Given the description of an element on the screen output the (x, y) to click on. 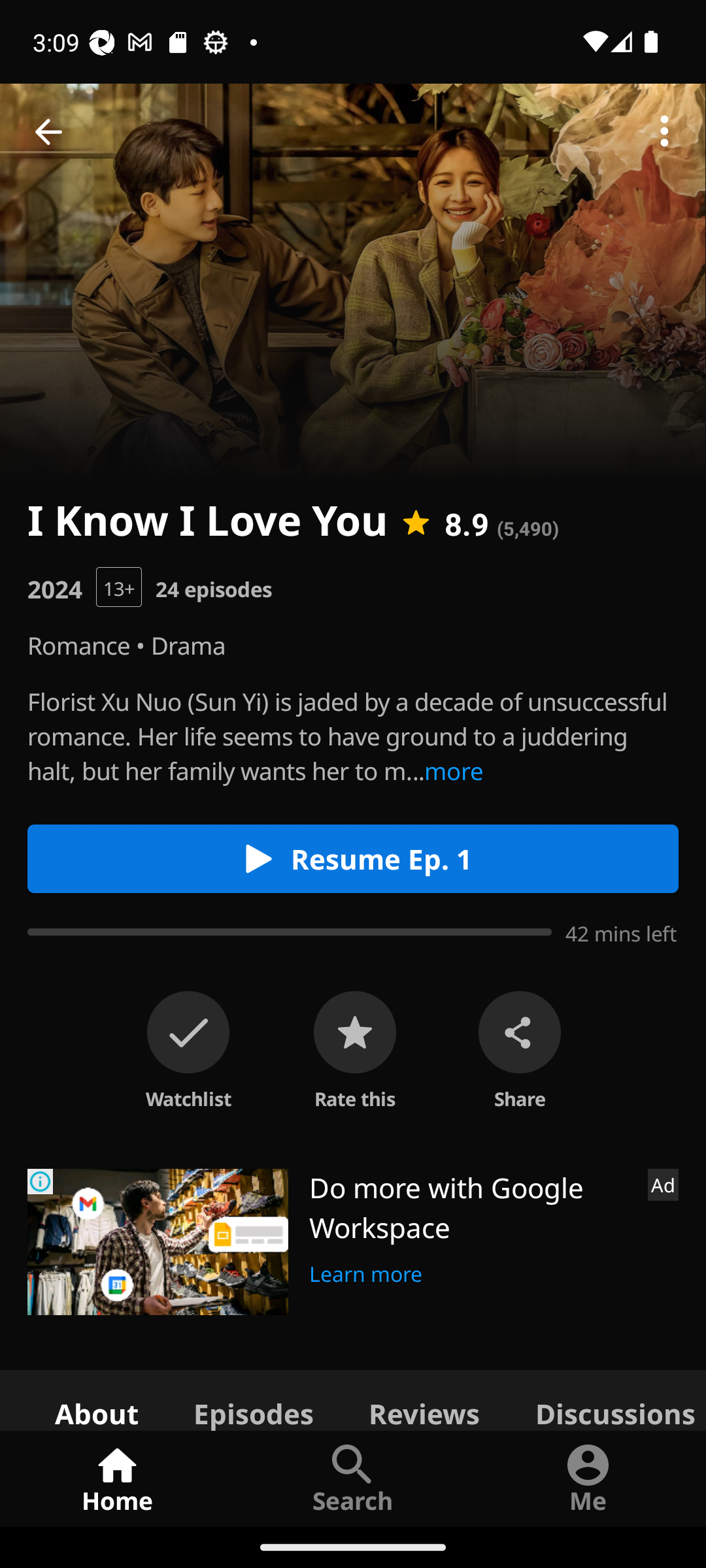
More (664, 131)
on (187, 1032)
Ad Choices Icon (39, 1181)
Do more with Google Workspace (471, 1207)
Learn more (365, 1271)
Episodes (252, 1400)
Reviews (423, 1400)
Discussions (606, 1400)
Search (352, 1478)
Me (588, 1478)
